Given the description of an element on the screen output the (x, y) to click on. 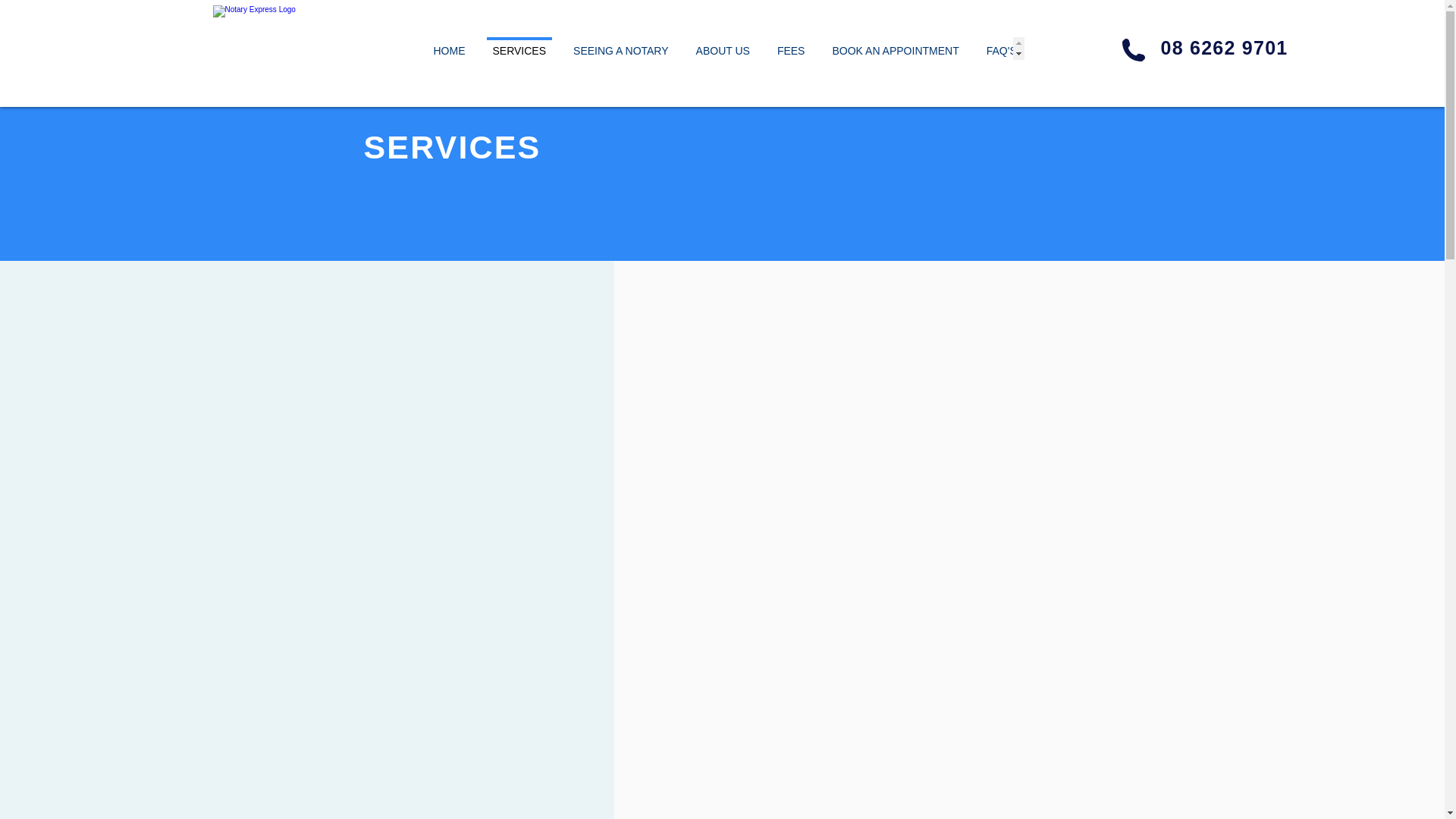
SEEING A NOTARY (620, 47)
BOOK AN APPOINTMENT (895, 47)
HOME (449, 47)
SERVICES (519, 47)
ABOUT US (722, 47)
FEES (790, 47)
FAQ'S (1001, 47)
